Given the description of an element on the screen output the (x, y) to click on. 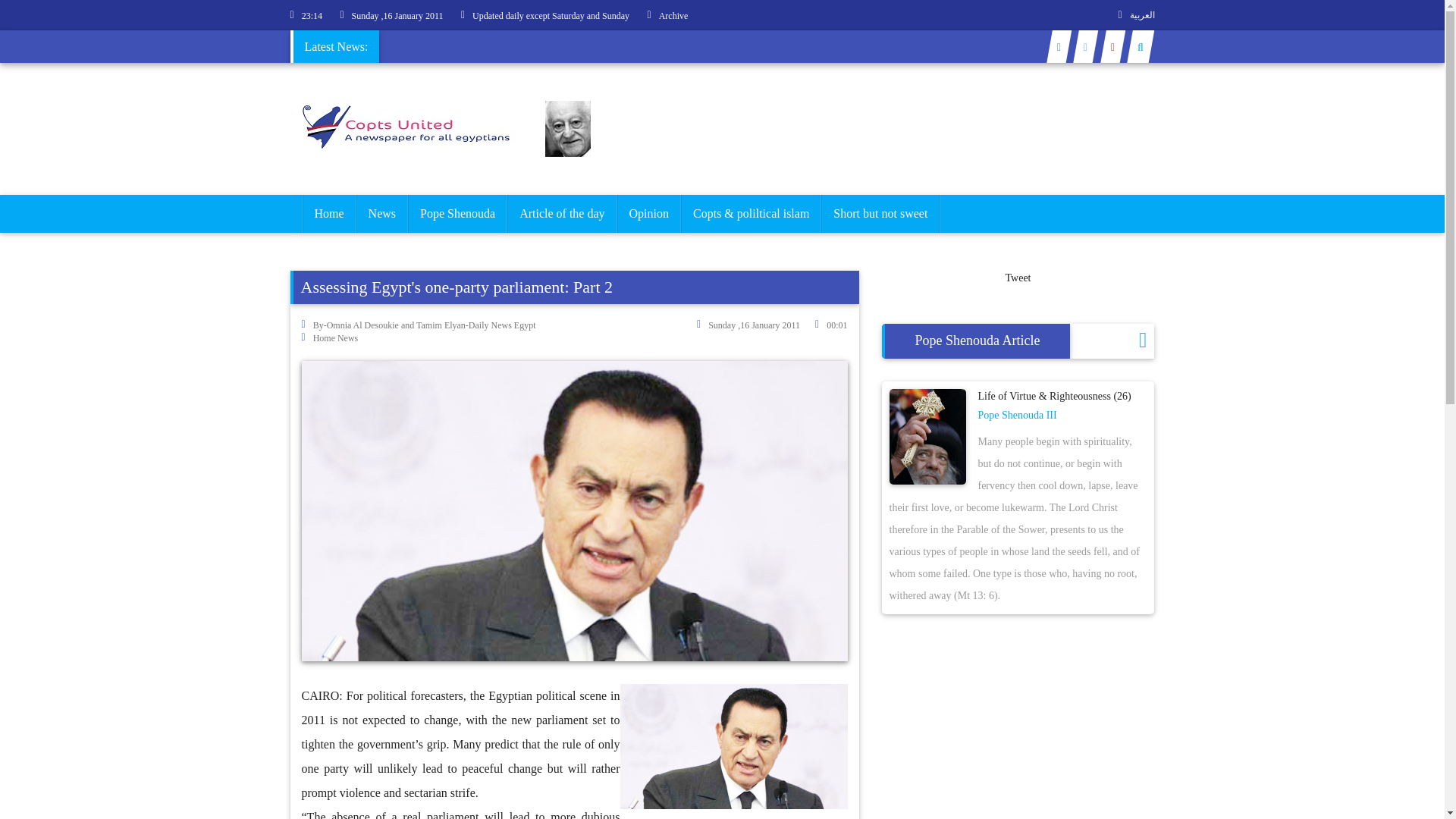
Short but not sweet (880, 213)
Opinion (648, 213)
Tweet (1017, 278)
Article of the day (561, 213)
News (381, 213)
Pope Shenouda (457, 213)
Home (328, 213)
